Given the description of an element on the screen output the (x, y) to click on. 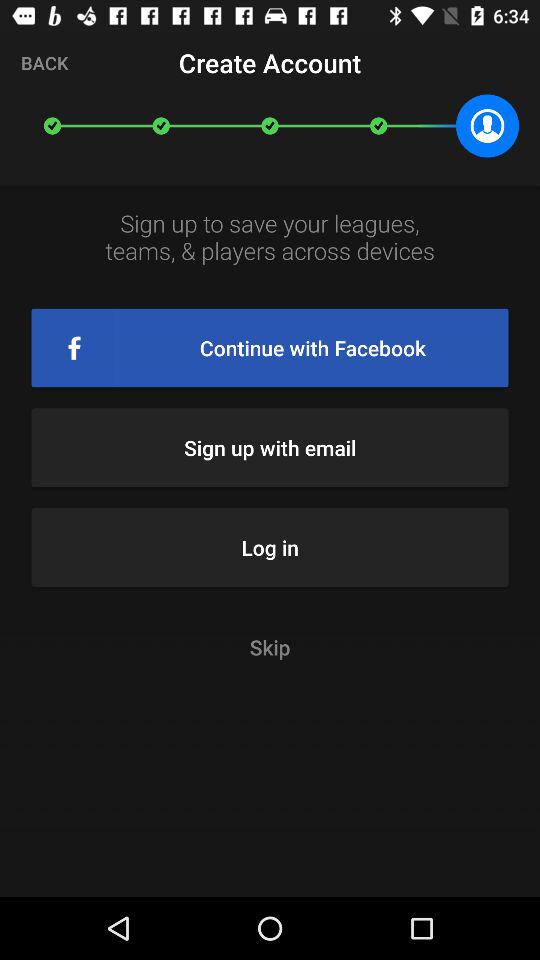
flip to the back item (44, 62)
